Given the description of an element on the screen output the (x, y) to click on. 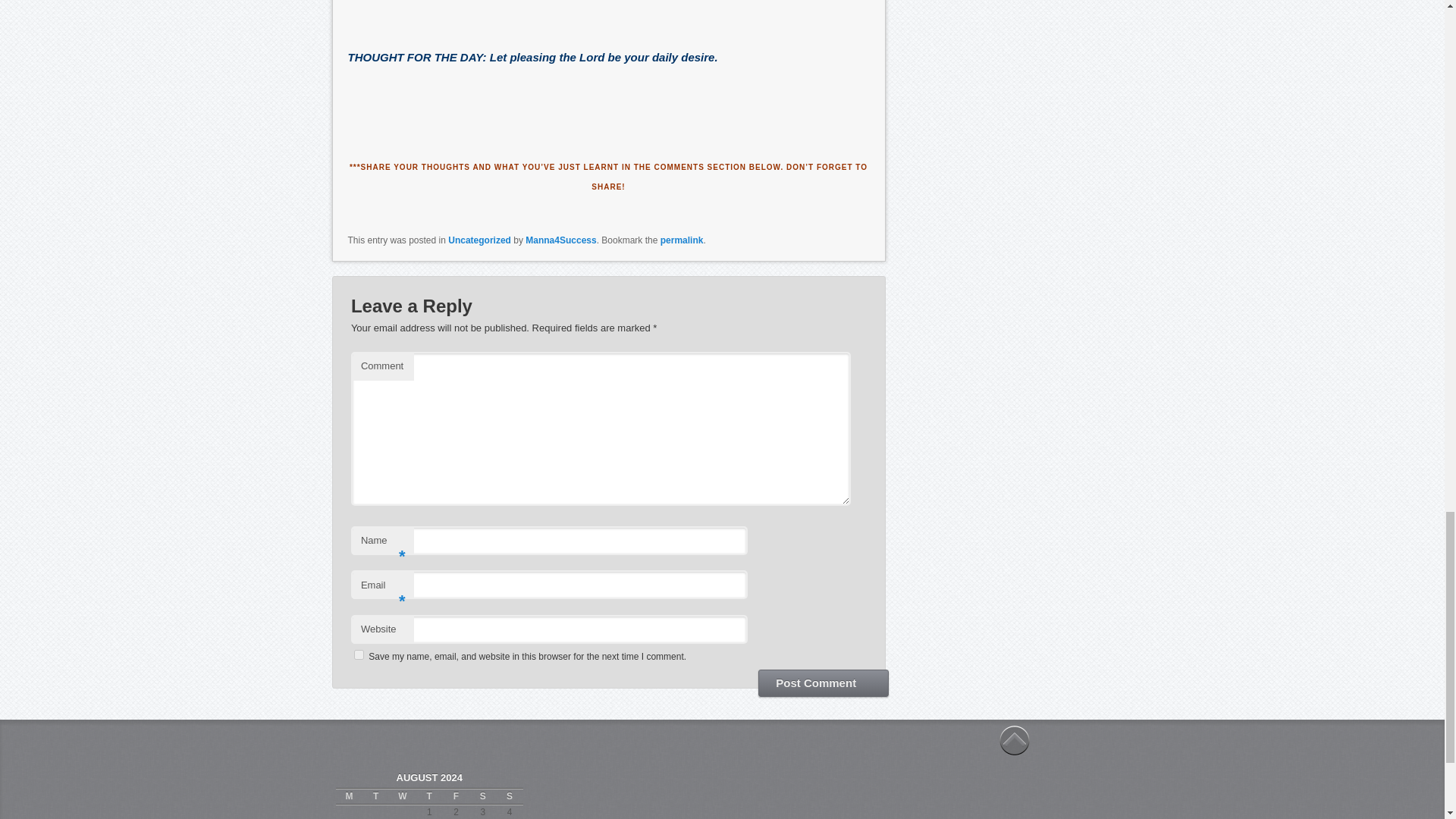
Permalink to Will The Lord Be Pleased With Your Actions? (682, 240)
permalink (682, 240)
Post Comment (823, 682)
Post Comment (823, 682)
yes (358, 655)
Saturday (482, 796)
Friday (455, 796)
Thursday (429, 796)
Wednesday (401, 796)
Tuesday (375, 796)
Uncategorized (479, 240)
Sunday (509, 796)
Manna4Success (560, 240)
Monday (349, 796)
